Given the description of an element on the screen output the (x, y) to click on. 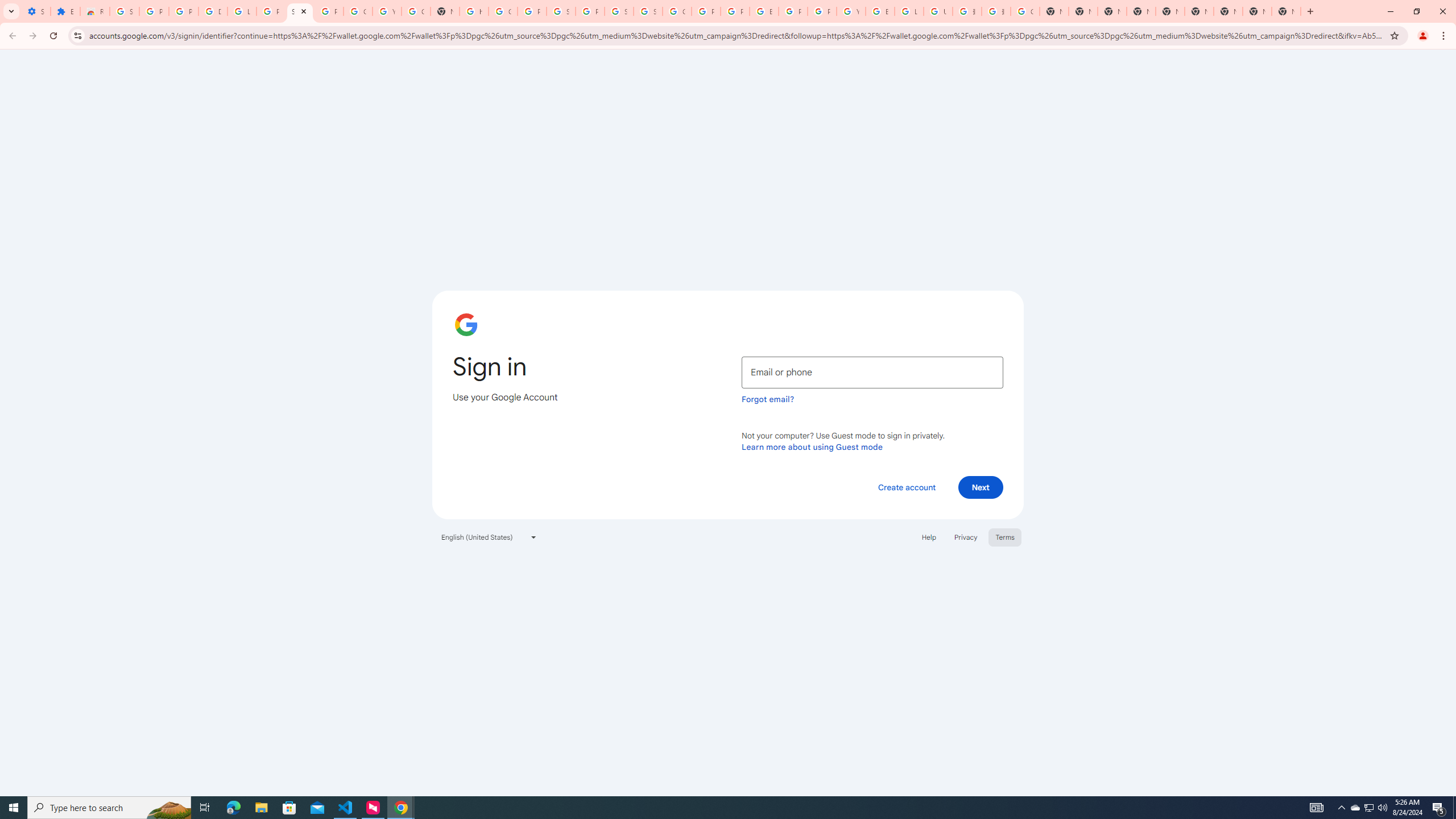
Help (928, 536)
Learn more about using Guest mode (812, 446)
